Given the description of an element on the screen output the (x, y) to click on. 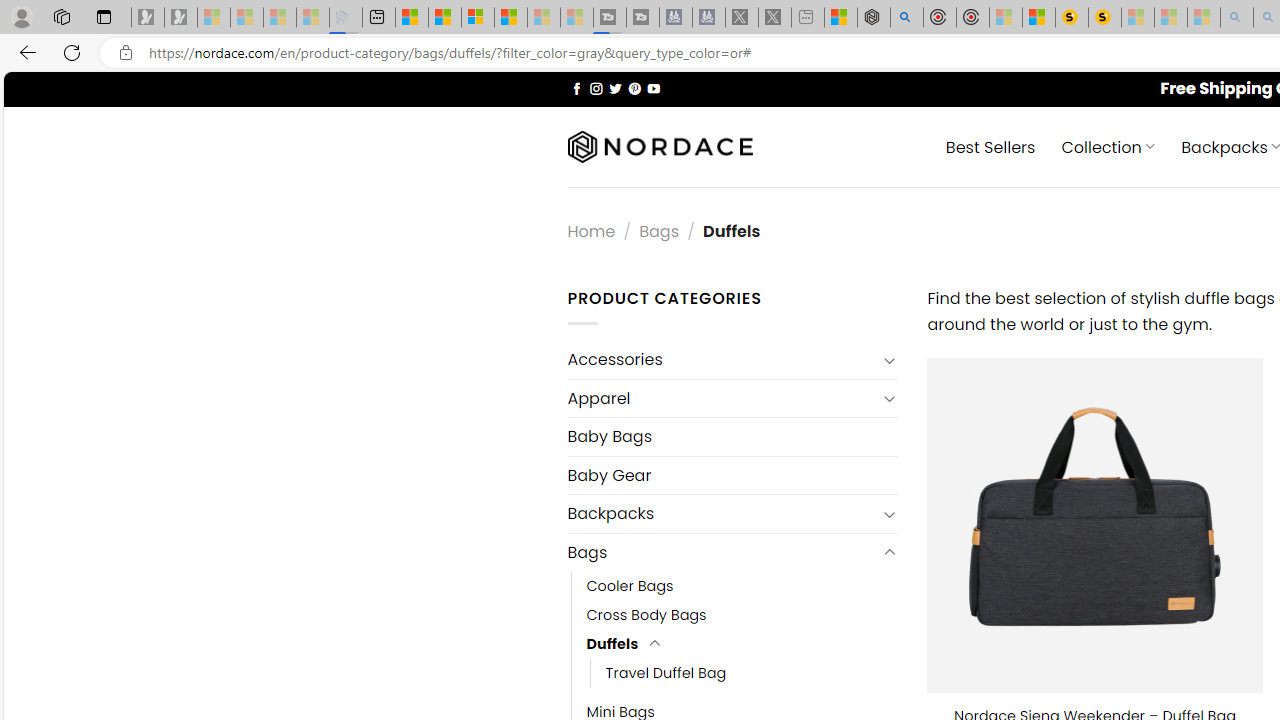
Cross Body Bags (646, 614)
Apparel (721, 398)
Travel Duffel Bag (666, 673)
Bags (721, 552)
Newsletter Sign Up - Sleeping (181, 17)
Microsoft Start - Sleeping (543, 17)
Baby Gear (732, 475)
 Best Sellers (989, 146)
Baby Bags (732, 435)
